Given the description of an element on the screen output the (x, y) to click on. 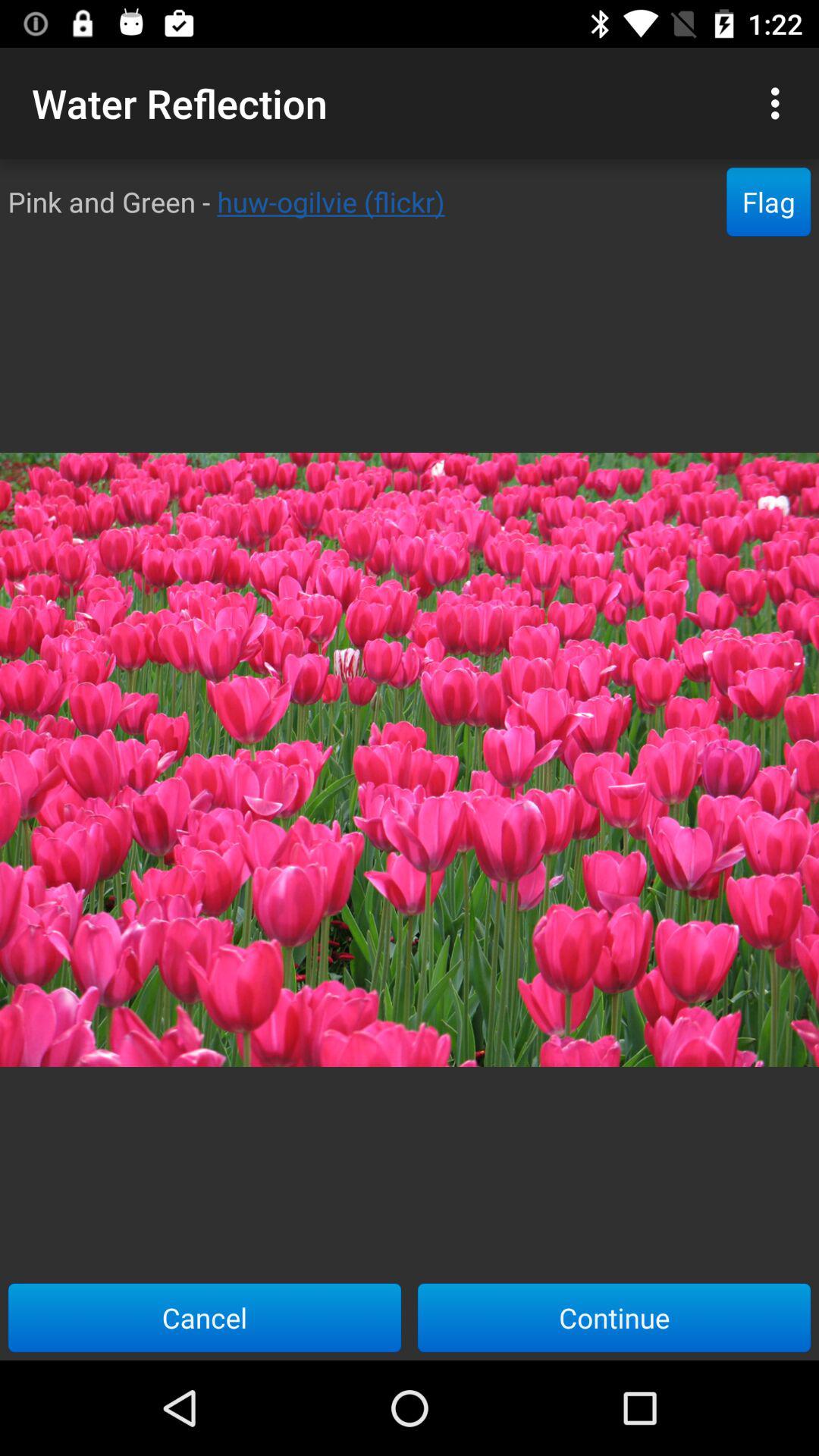
turn on the icon next to continue (204, 1317)
